Given the description of an element on the screen output the (x, y) to click on. 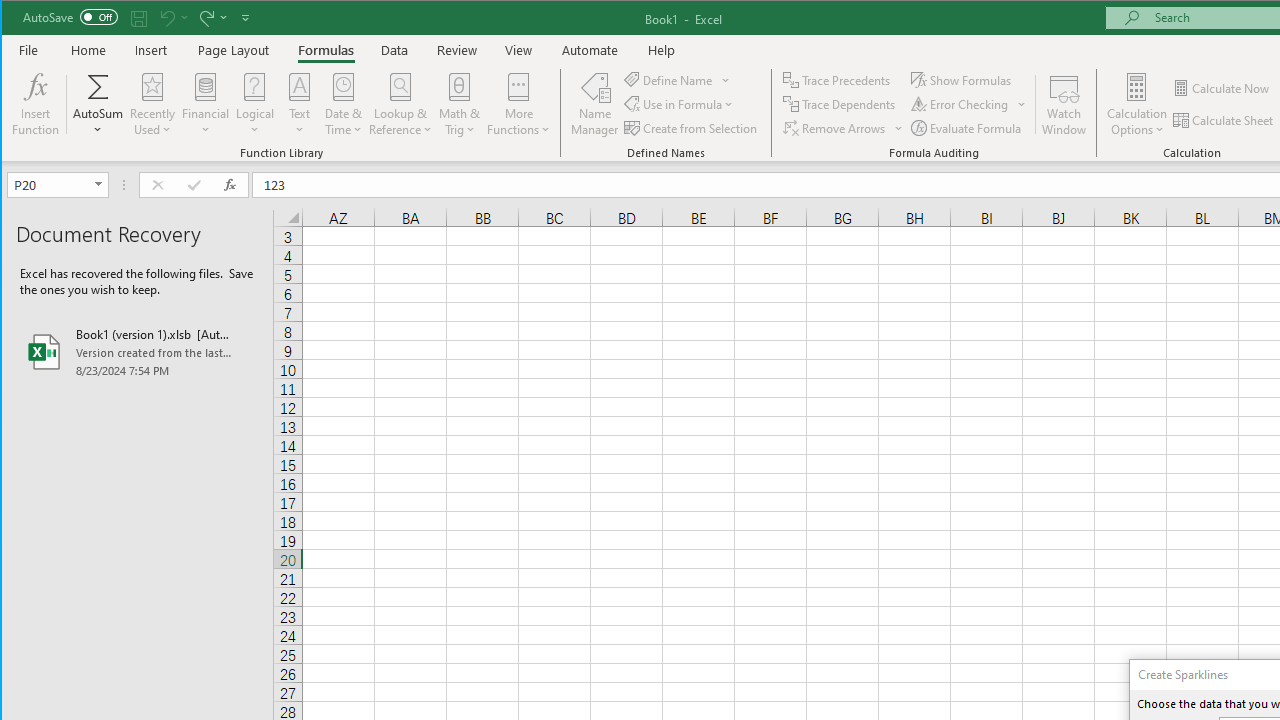
Financial (205, 104)
Trace Dependents (840, 103)
Define Name... (669, 80)
Remove Arrows (843, 127)
Name Manager (594, 104)
View (518, 50)
AutoSave (70, 16)
Home (88, 50)
Date & Time (343, 104)
Show Formulas (962, 80)
Calculation Options (1136, 104)
Open (99, 184)
